Given the description of an element on the screen output the (x, y) to click on. 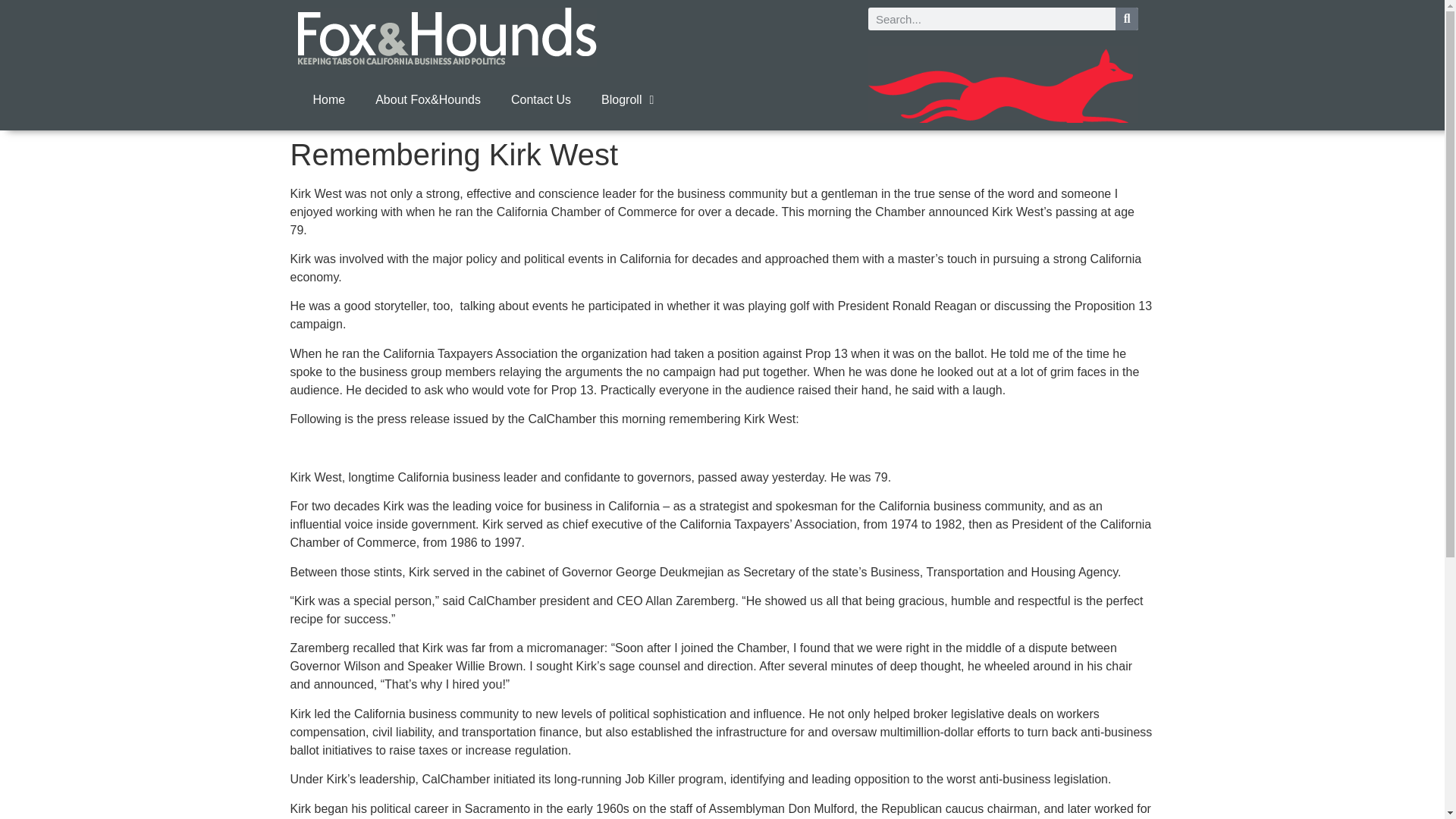
Blogroll (627, 99)
Contact Us (541, 99)
Home (328, 99)
